Given the description of an element on the screen output the (x, y) to click on. 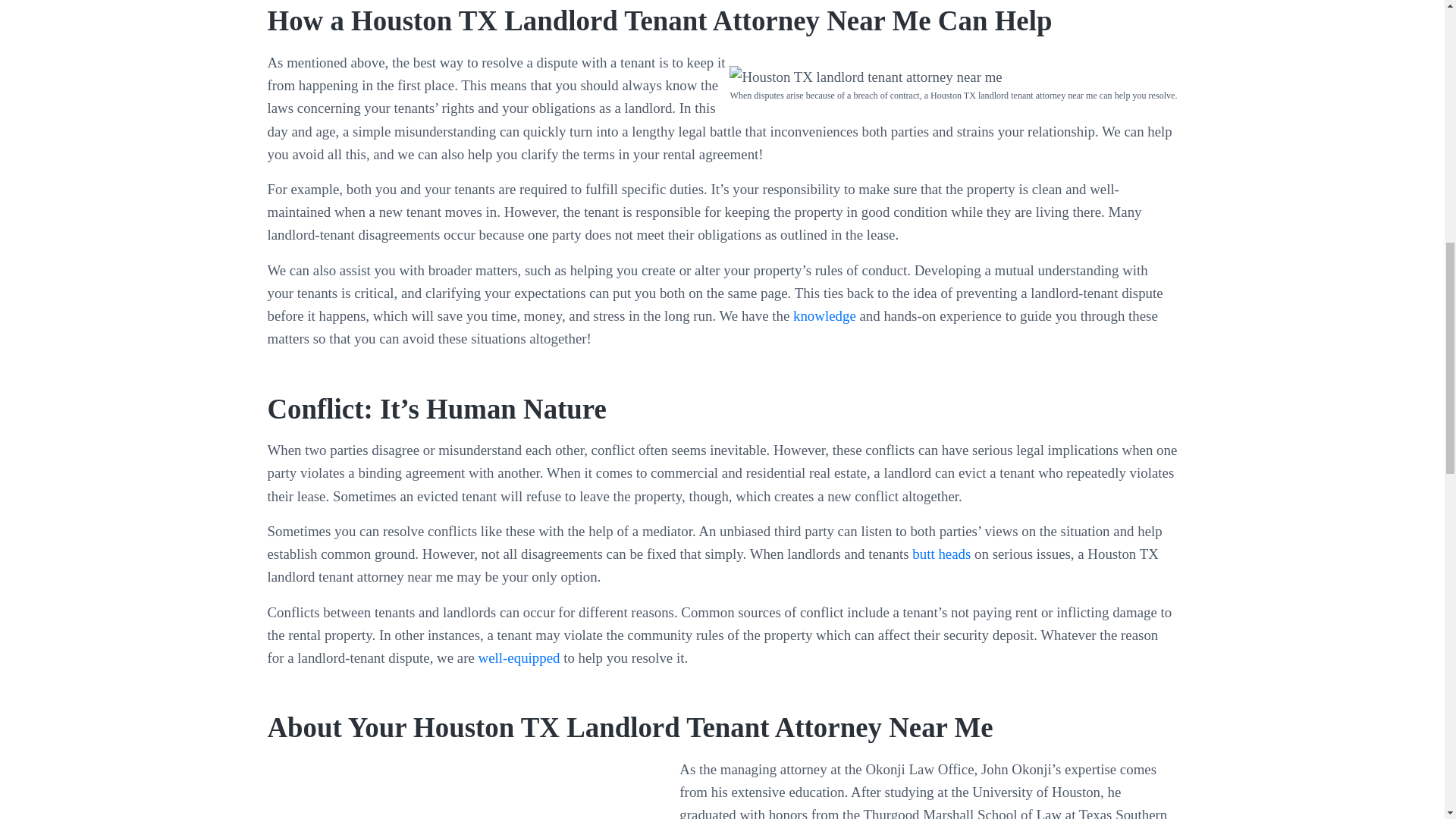
knowledge (826, 315)
well-equipped (519, 657)
butt heads (941, 553)
